Given the description of an element on the screen output the (x, y) to click on. 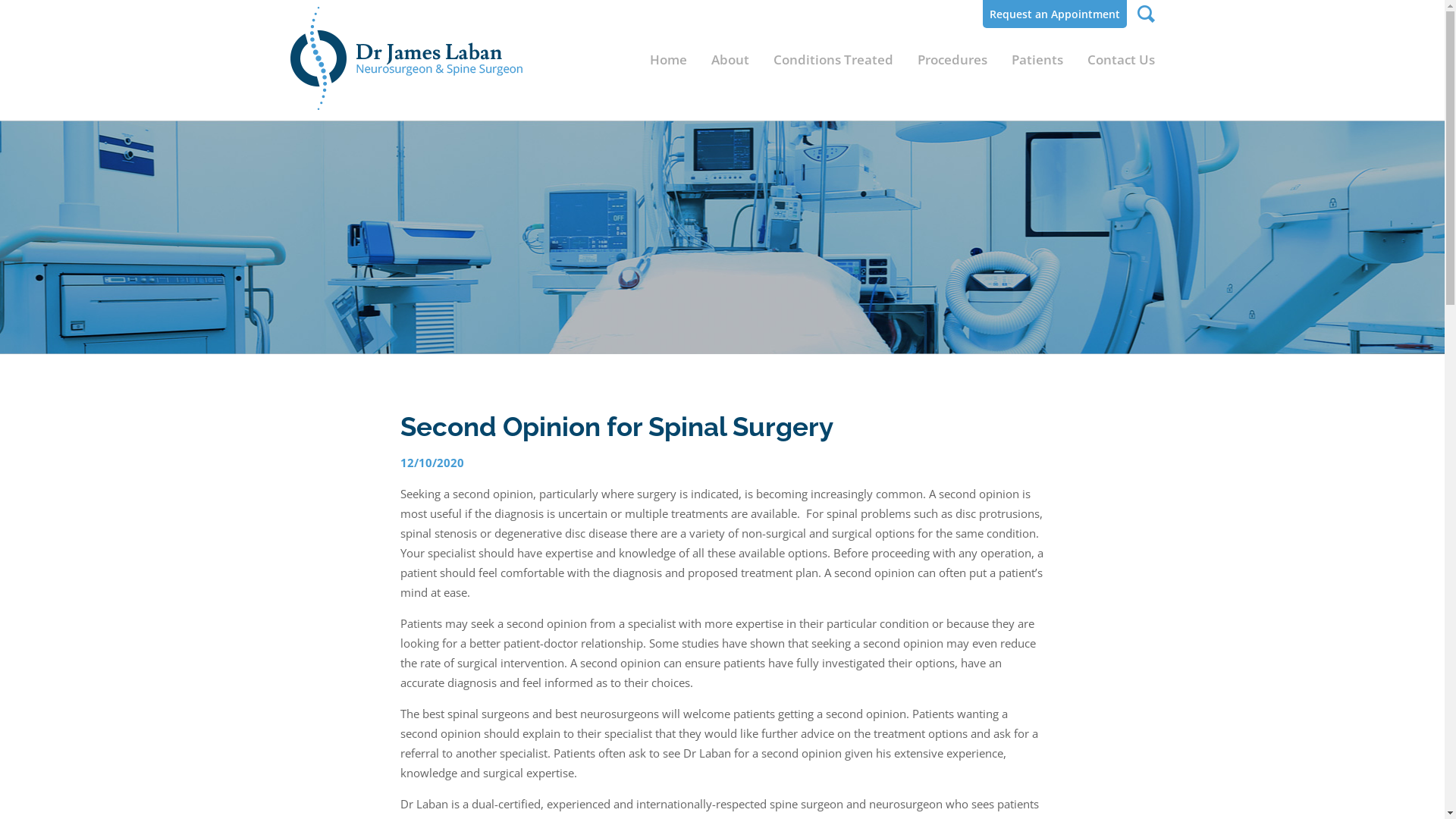
Home Element type: text (673, 59)
Patients Element type: text (1037, 59)
Conditions Treated Element type: text (833, 59)
Contact Us Element type: text (1114, 59)
Procedures Element type: text (952, 59)
Request an Appointment Element type: text (1054, 14)
About Element type: text (730, 59)
